Given the description of an element on the screen output the (x, y) to click on. 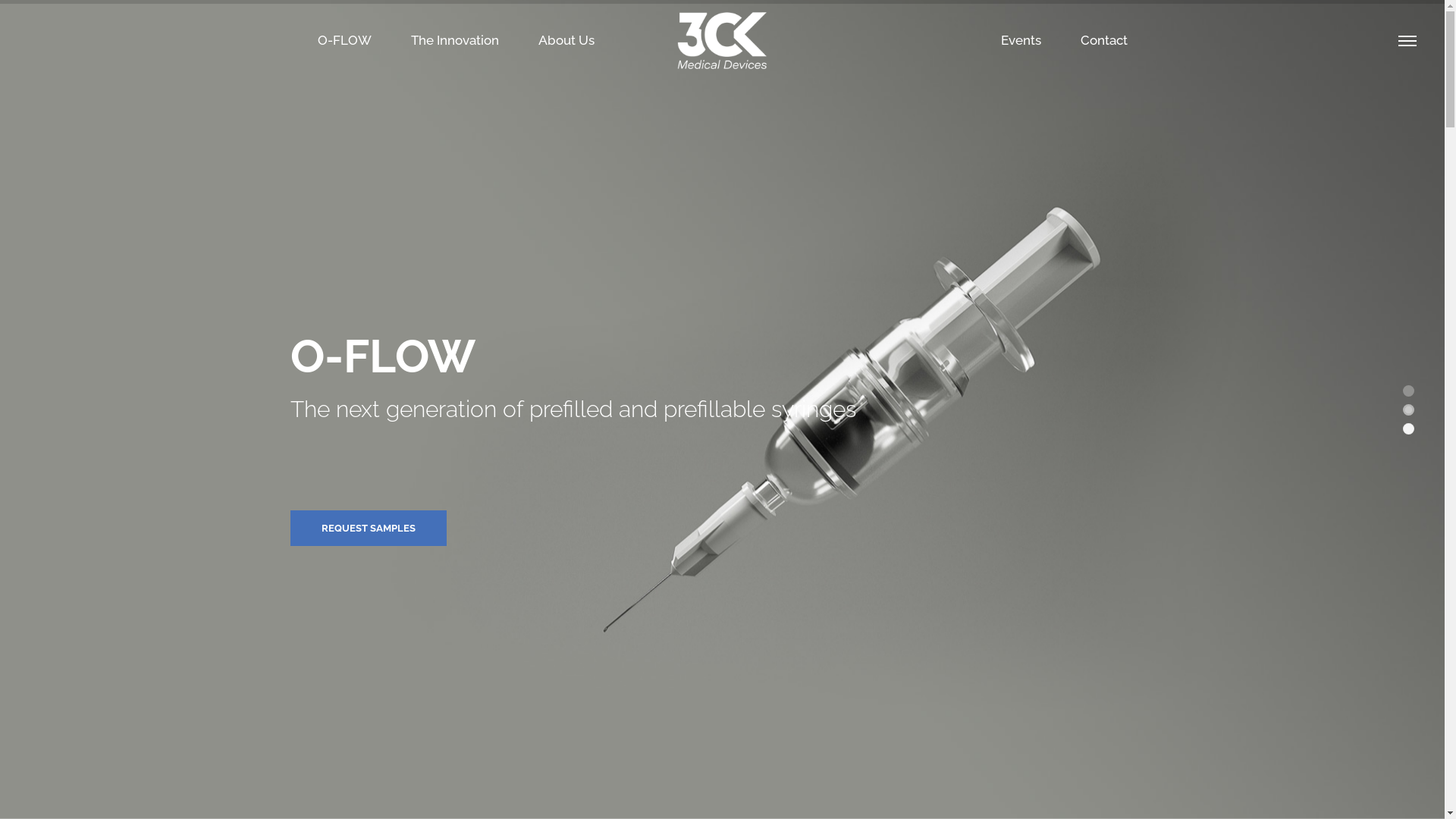
REQUEST SAMPLES Element type: text (368, 528)
About Us Element type: text (565, 40)
O-FLOW Element type: text (344, 40)
The Innovation Element type: text (454, 40)
Events Element type: text (1020, 40)
Contact Element type: text (1103, 40)
